Given the description of an element on the screen output the (x, y) to click on. 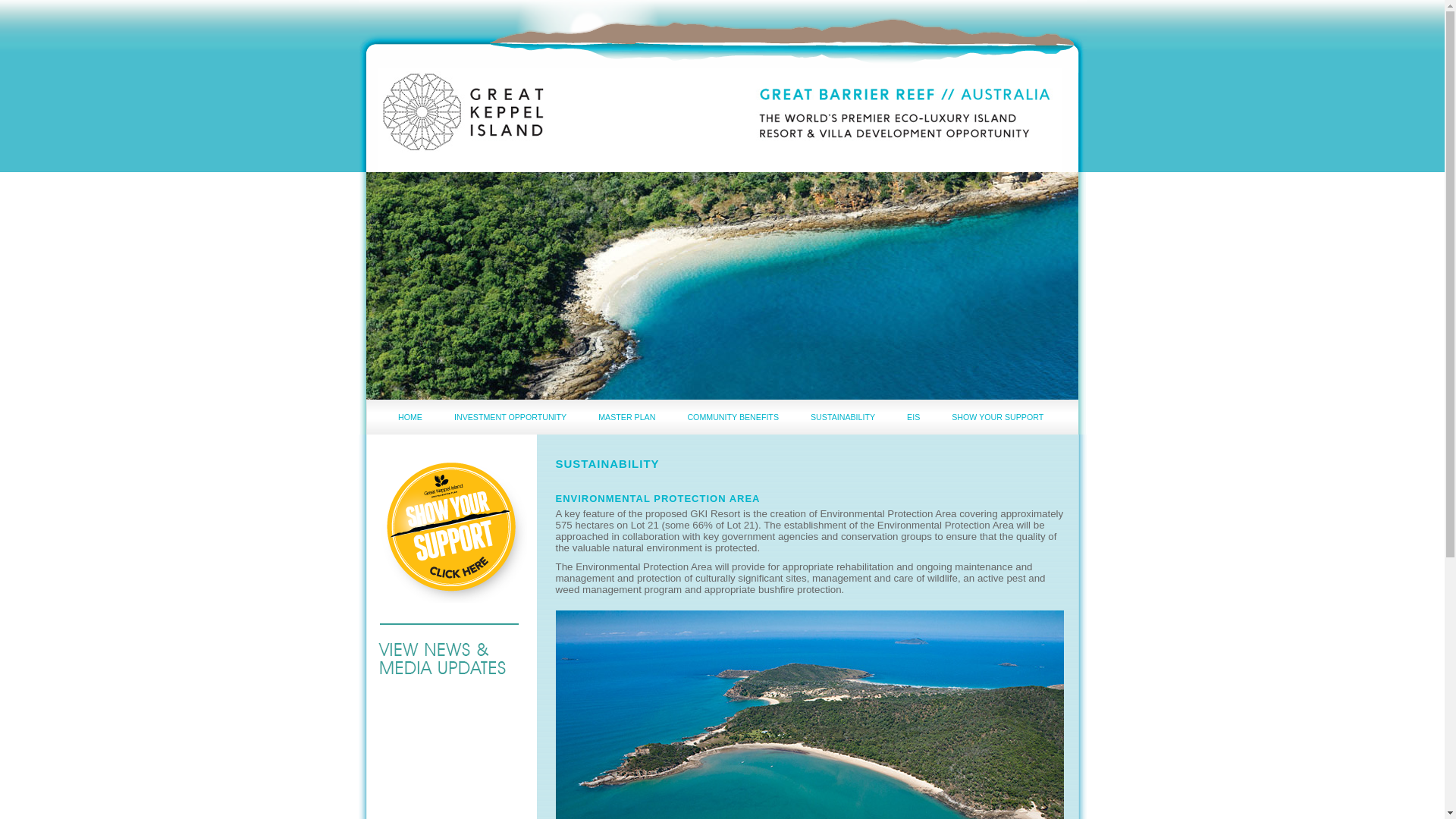
COMMUNITY BENEFITS Element type: text (732, 416)
SHOW YOUR SUPPORT Element type: text (997, 416)
SUSTAINABILITY Element type: text (842, 416)
HOME Element type: text (410, 416)
MASTER PLAN Element type: text (626, 416)
EIS Element type: text (913, 416)
INVESTMENT OPPORTUNITY Element type: text (510, 416)
Support the Great Keppel Island Revitalisation Plan Element type: hover (450, 526)
